Given the description of an element on the screen output the (x, y) to click on. 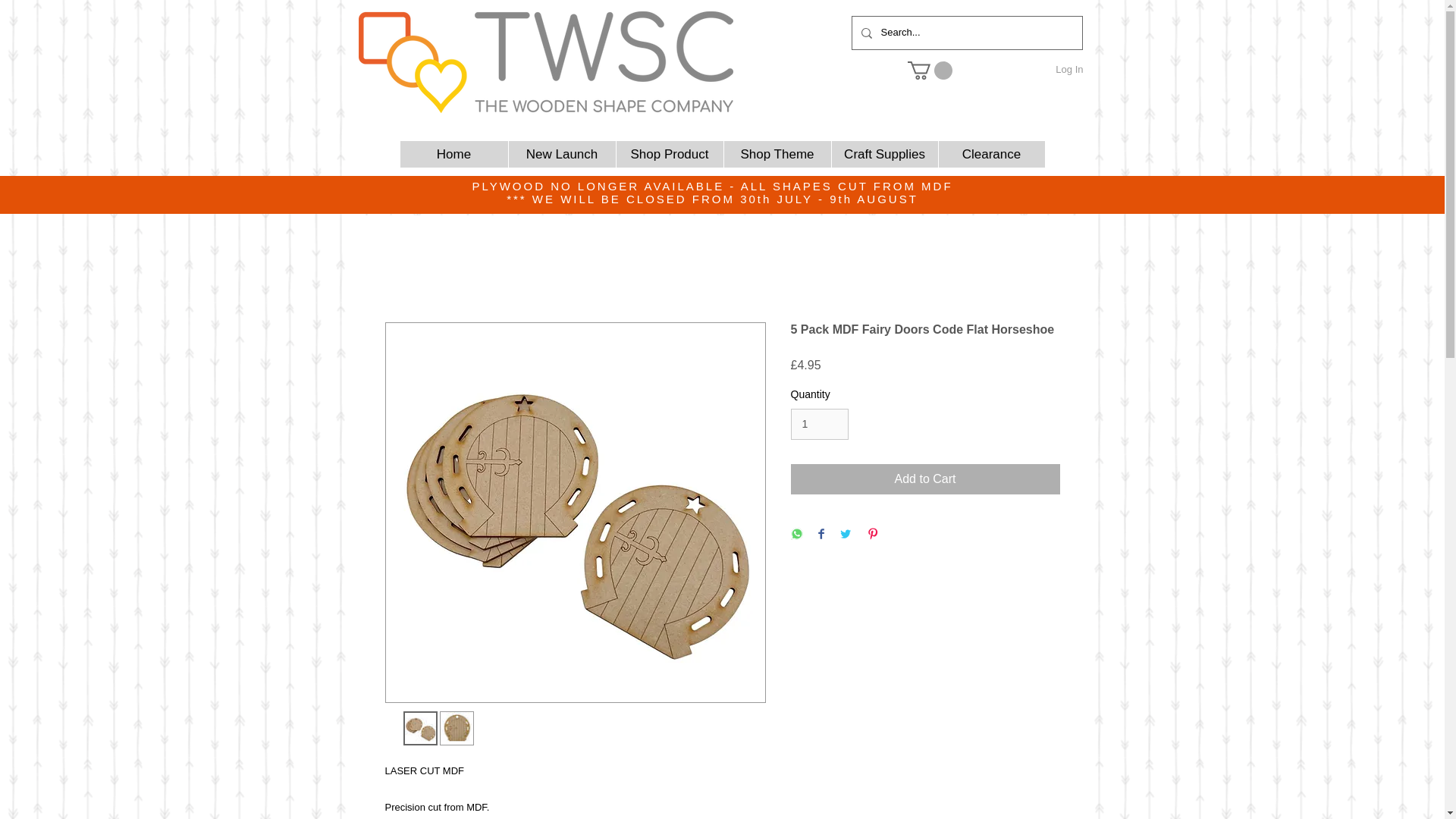
Shop Product (669, 153)
1 (818, 423)
Home (454, 153)
New Launch (561, 153)
Log In (1069, 69)
